Given the description of an element on the screen output the (x, y) to click on. 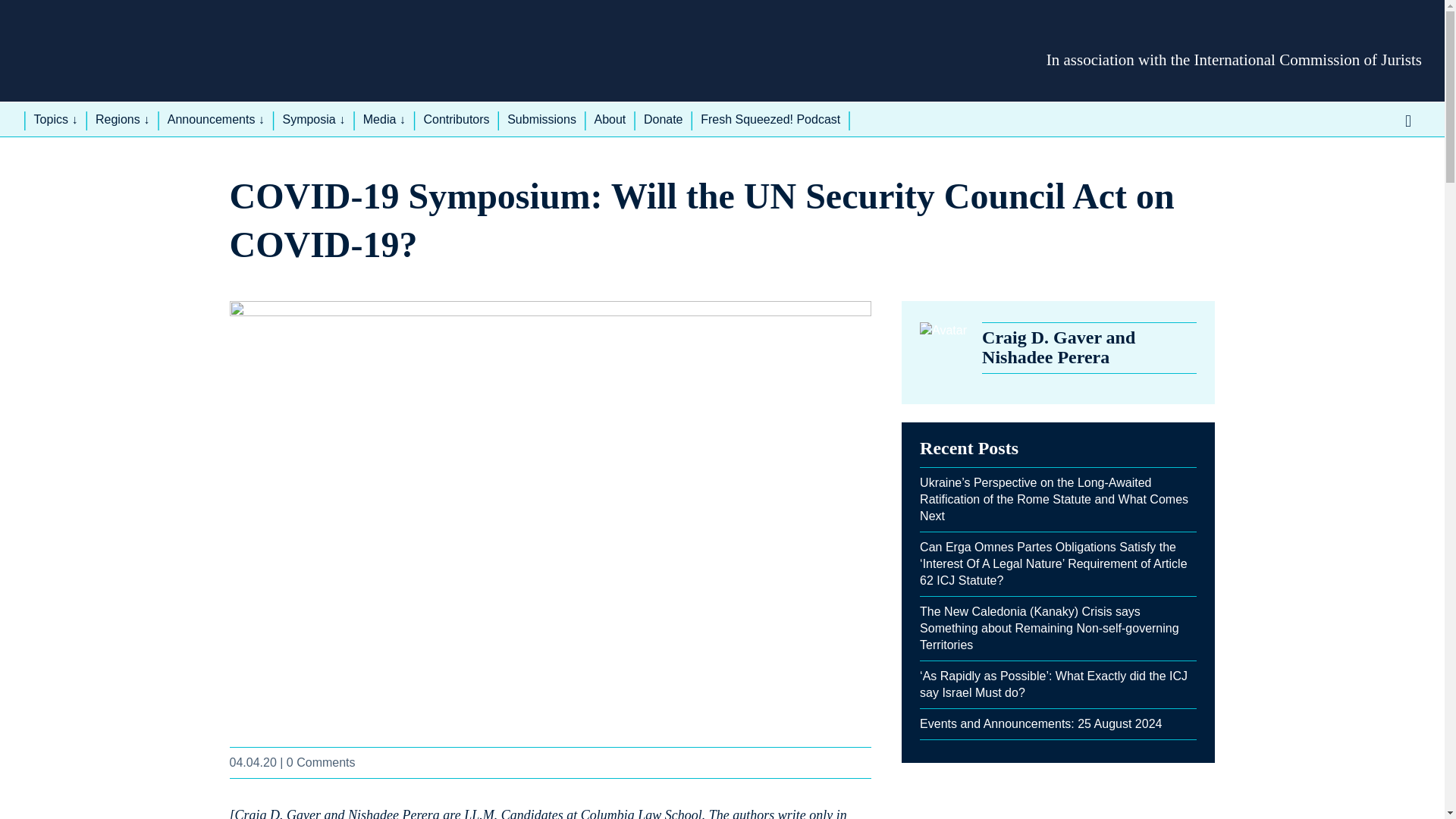
About (608, 119)
Donate (663, 119)
Contributors (456, 119)
In association with the International Commission of Jurists (1234, 59)
Submissions (541, 119)
Donate (663, 119)
Fresh Squeezed! Podcast (770, 119)
